Given the description of an element on the screen output the (x, y) to click on. 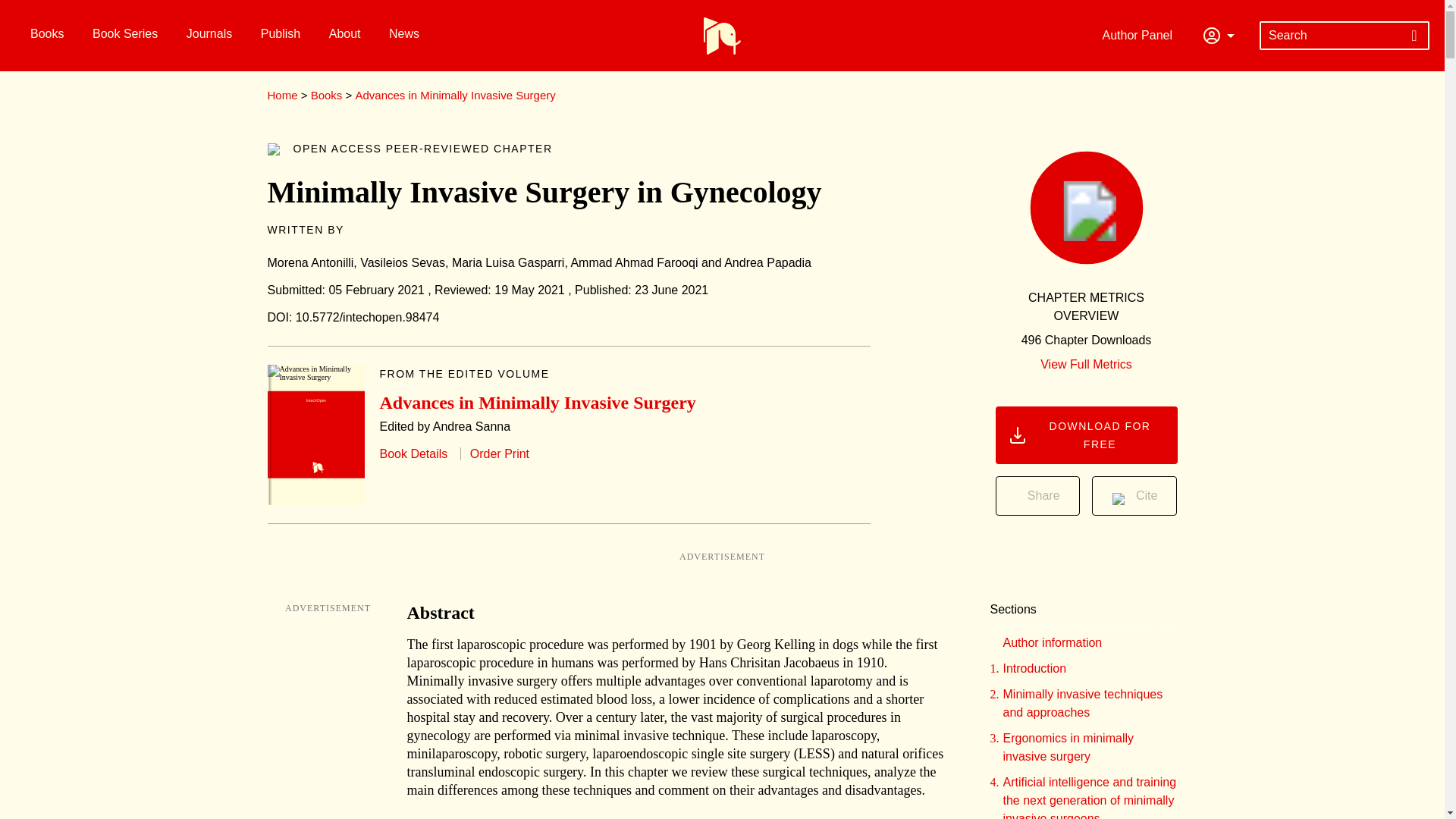
Share (1037, 495)
Book Details (412, 453)
Submit (1414, 35)
Publish (278, 33)
Advances in Minimally Invasive Surgery (454, 94)
Journals (207, 33)
Books (326, 94)
Cite (1134, 495)
Advances in Minimally Invasive Surgery (536, 402)
Book Series (122, 33)
View Full Metrics (1085, 364)
Author Panel (1140, 35)
Order Print (494, 453)
IntechOpen (315, 434)
DOWNLOAD FOR FREE (1085, 435)
